Given the description of an element on the screen output the (x, y) to click on. 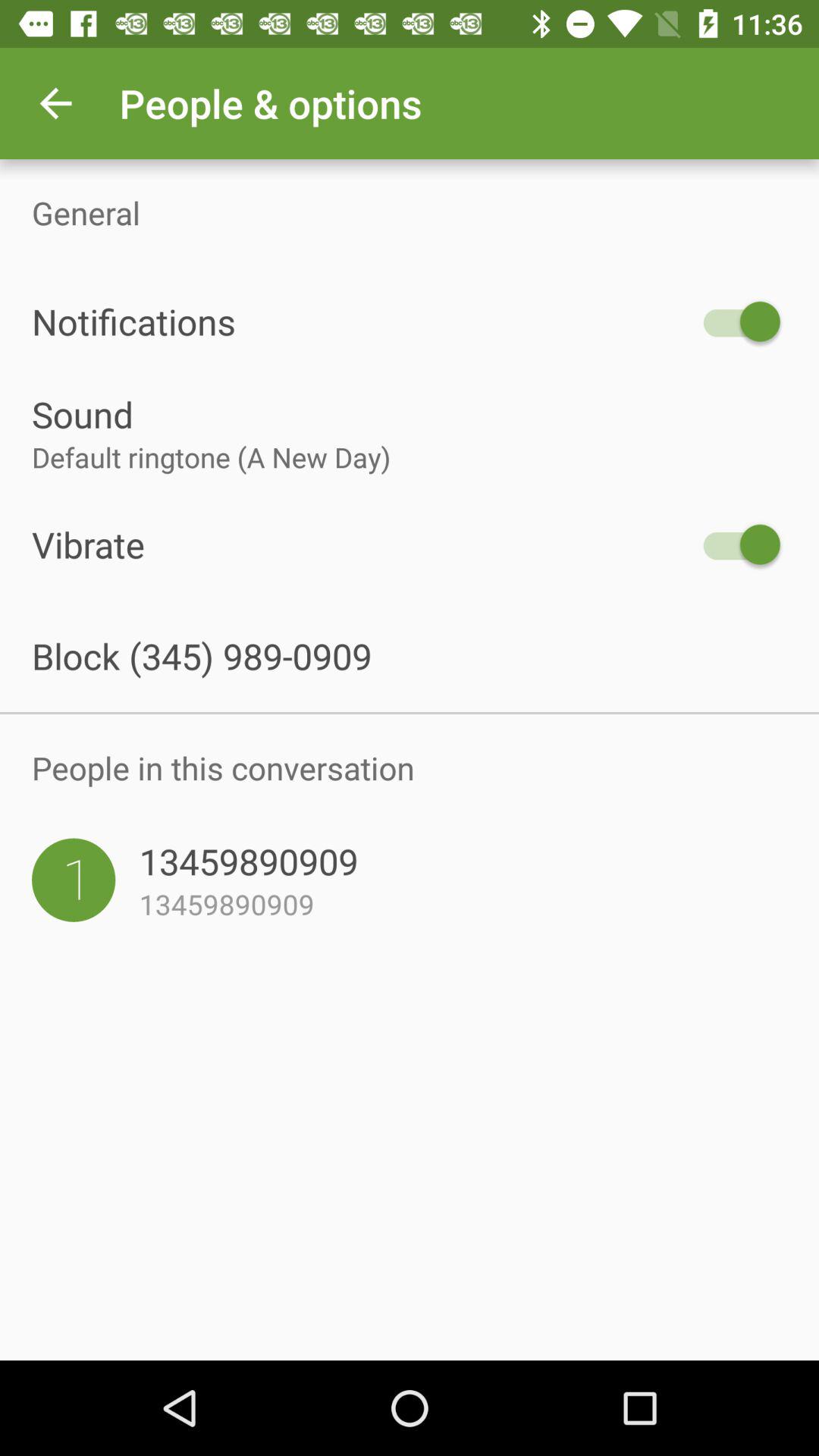
jump to sound item (409, 414)
